Given the description of an element on the screen output the (x, y) to click on. 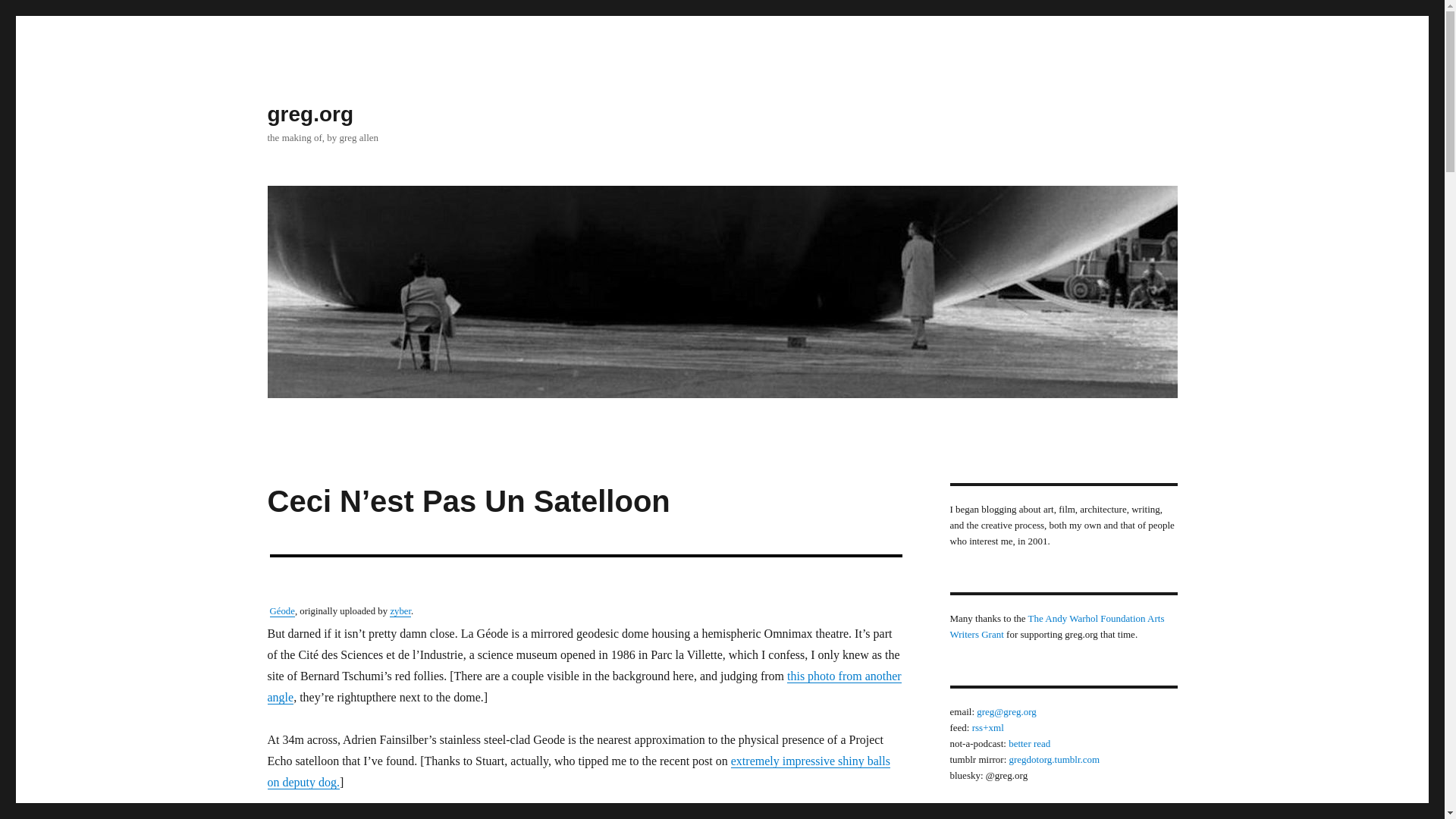
zyber (400, 611)
photo sharing (585, 564)
better read (1029, 743)
this photo from another angle (583, 686)
greg.org (309, 114)
The Andy Warhol Foundation Arts Writers Grant (1056, 625)
gregdotorg.tumblr.com (1054, 758)
extremely impressive shiny balls on deputy dog. (577, 771)
